Given the description of an element on the screen output the (x, y) to click on. 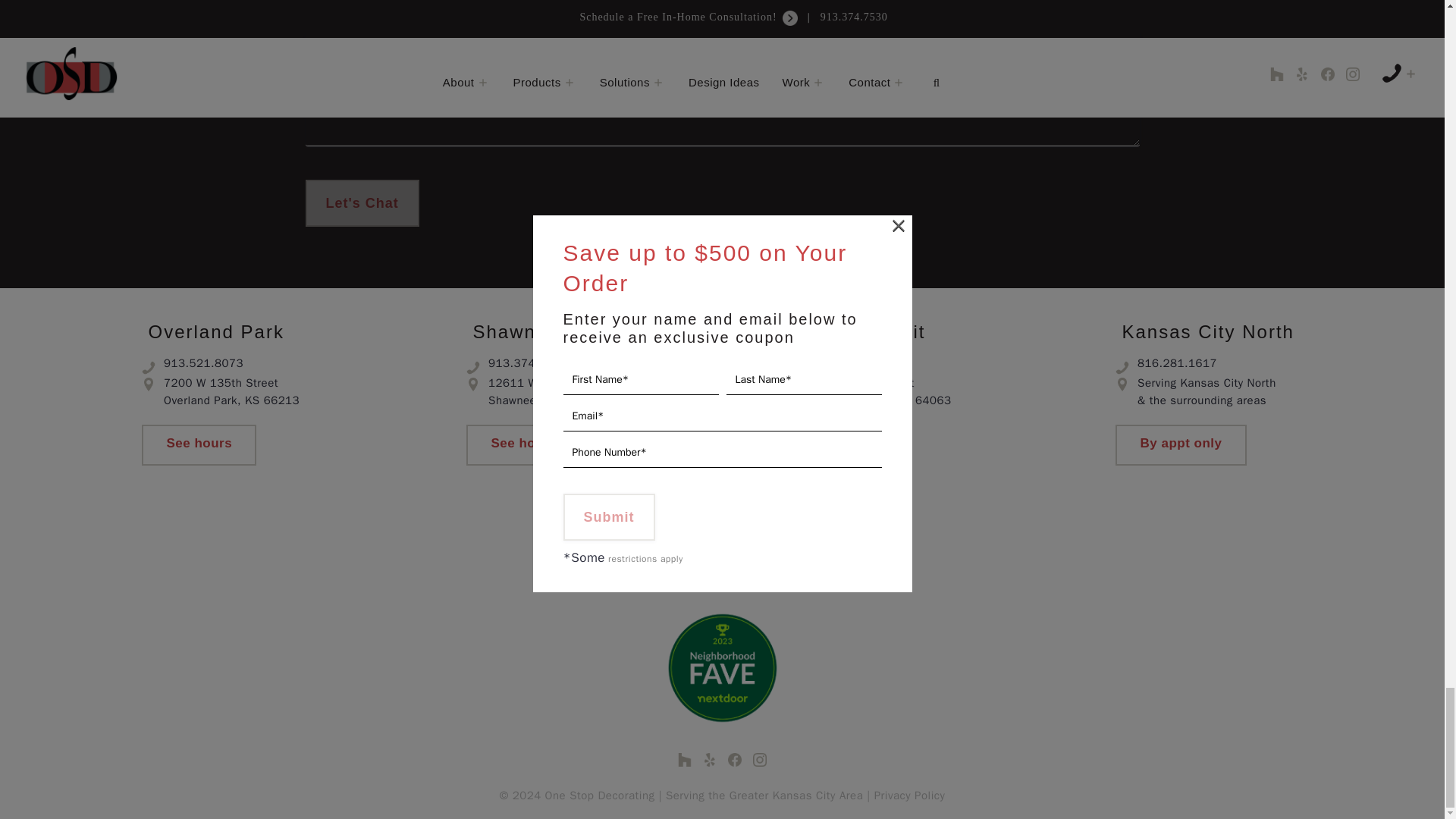
Let's Chat (361, 202)
